Given the description of an element on the screen output the (x, y) to click on. 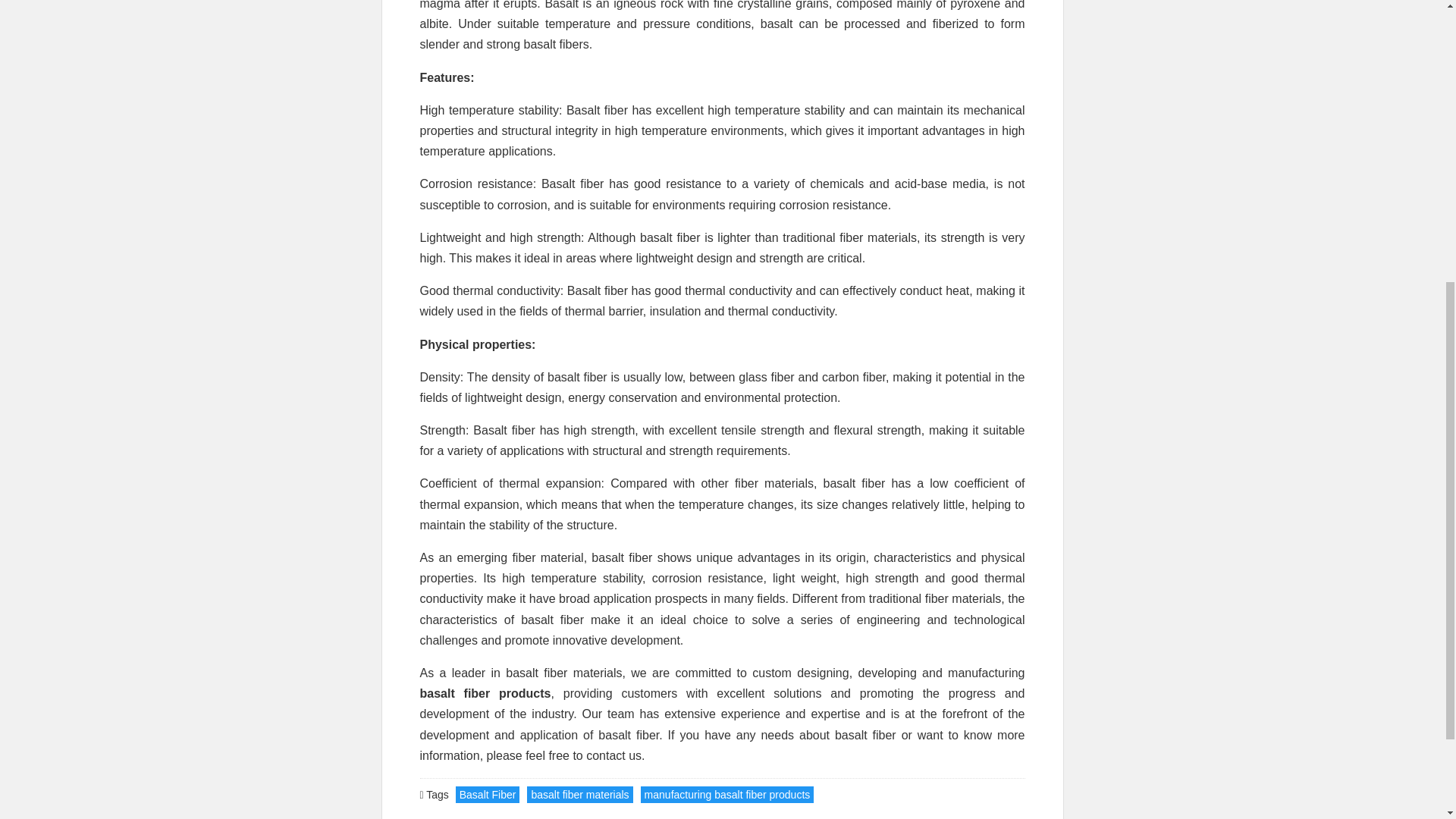
basalt fiber materials (579, 794)
Basalt Fiber (487, 794)
basalt fiber products (485, 693)
manufacturing basalt fiber products (726, 794)
